Given the description of an element on the screen output the (x, y) to click on. 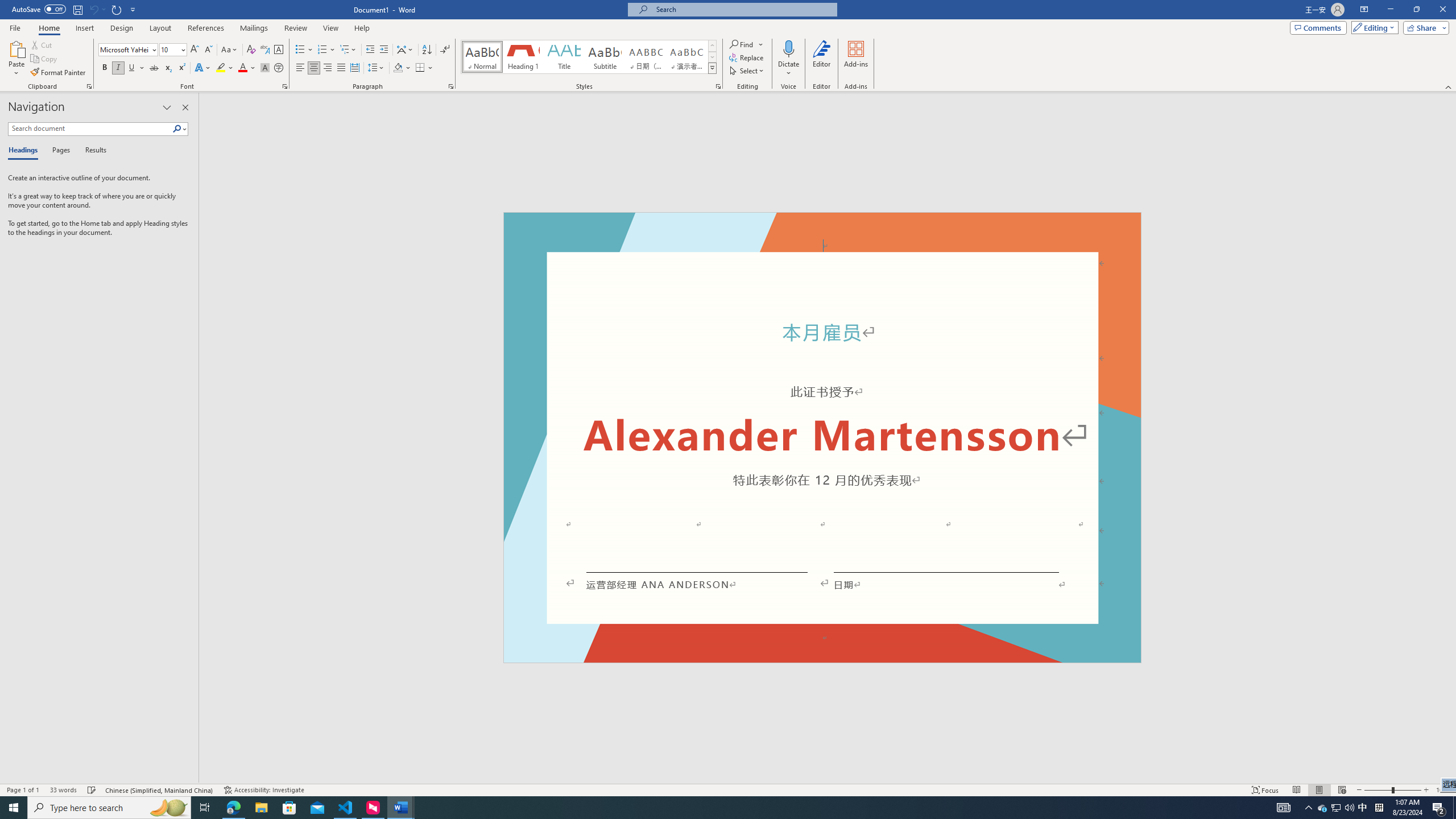
Subtitle (605, 56)
Page Number Page 1 of 1 (22, 790)
